Given the description of an element on the screen output the (x, y) to click on. 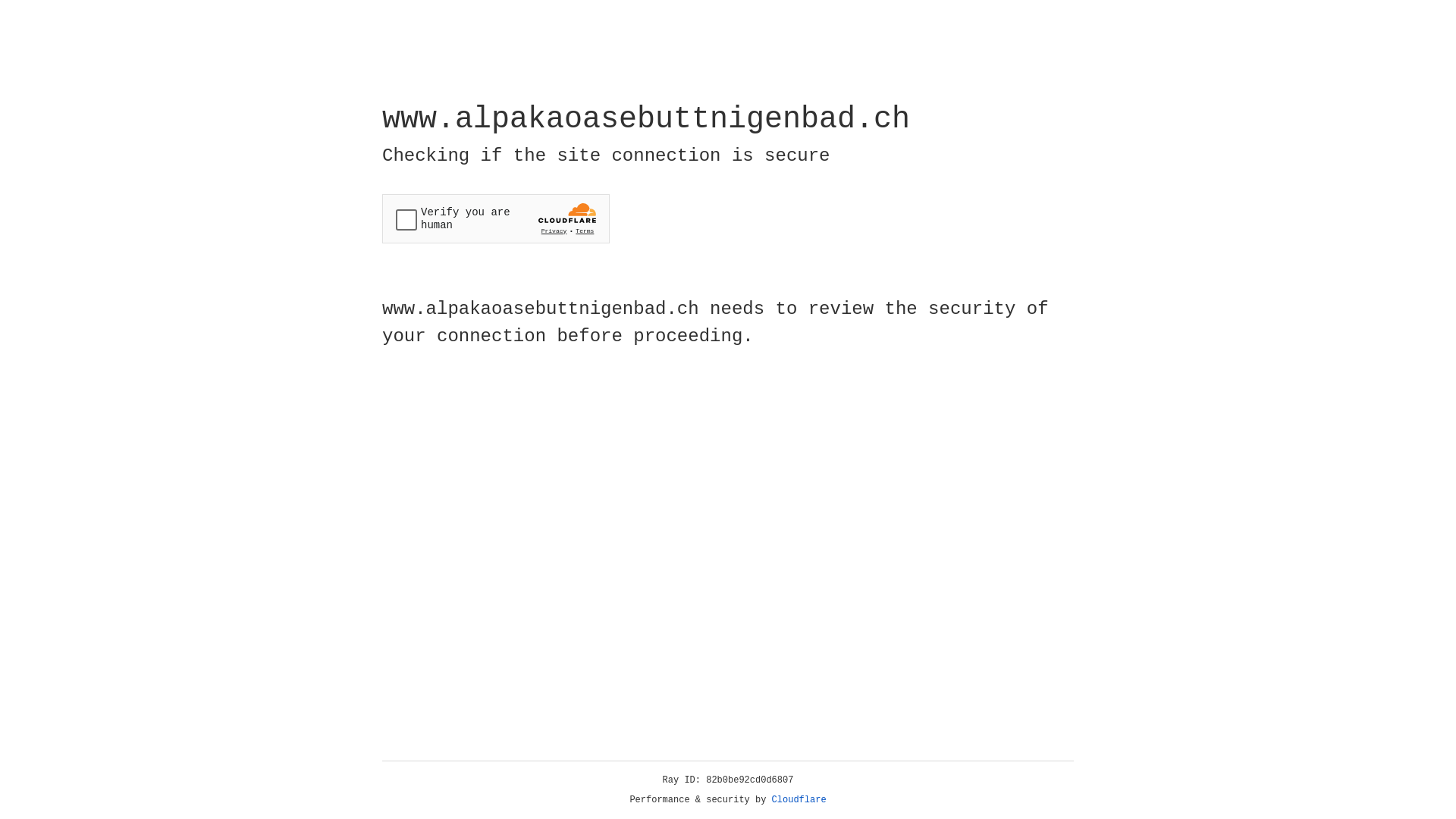
Cloudflare Element type: text (798, 799)
Widget containing a Cloudflare security challenge Element type: hover (495, 218)
